Given the description of an element on the screen output the (x, y) to click on. 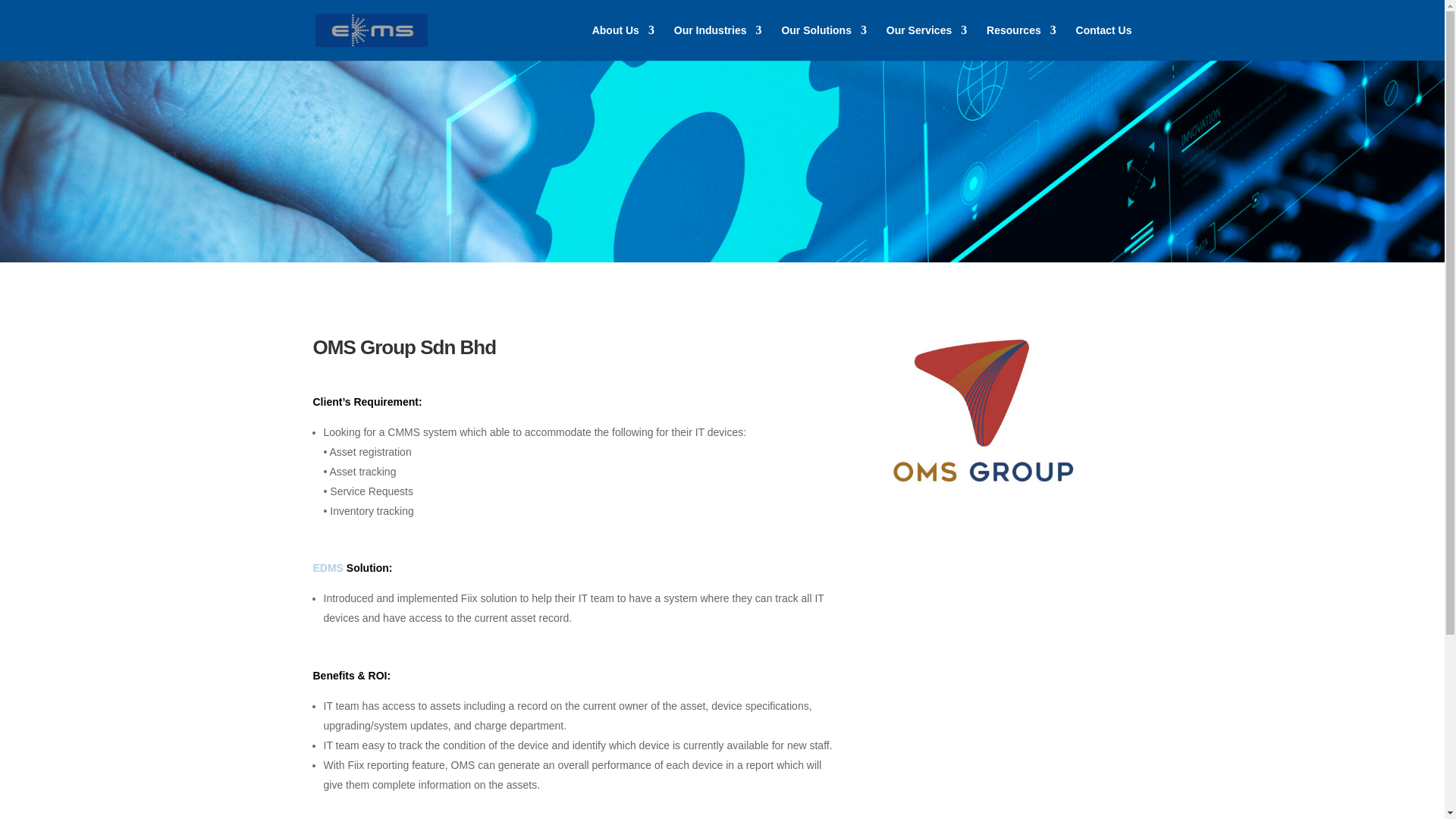
EDMS (327, 567)
Contact Us (1103, 42)
Our Services (926, 42)
Our Industries (717, 42)
OMS Group Logo (981, 410)
Resources (1022, 42)
Our Solutions (823, 42)
About Us (622, 42)
